Given the description of an element on the screen output the (x, y) to click on. 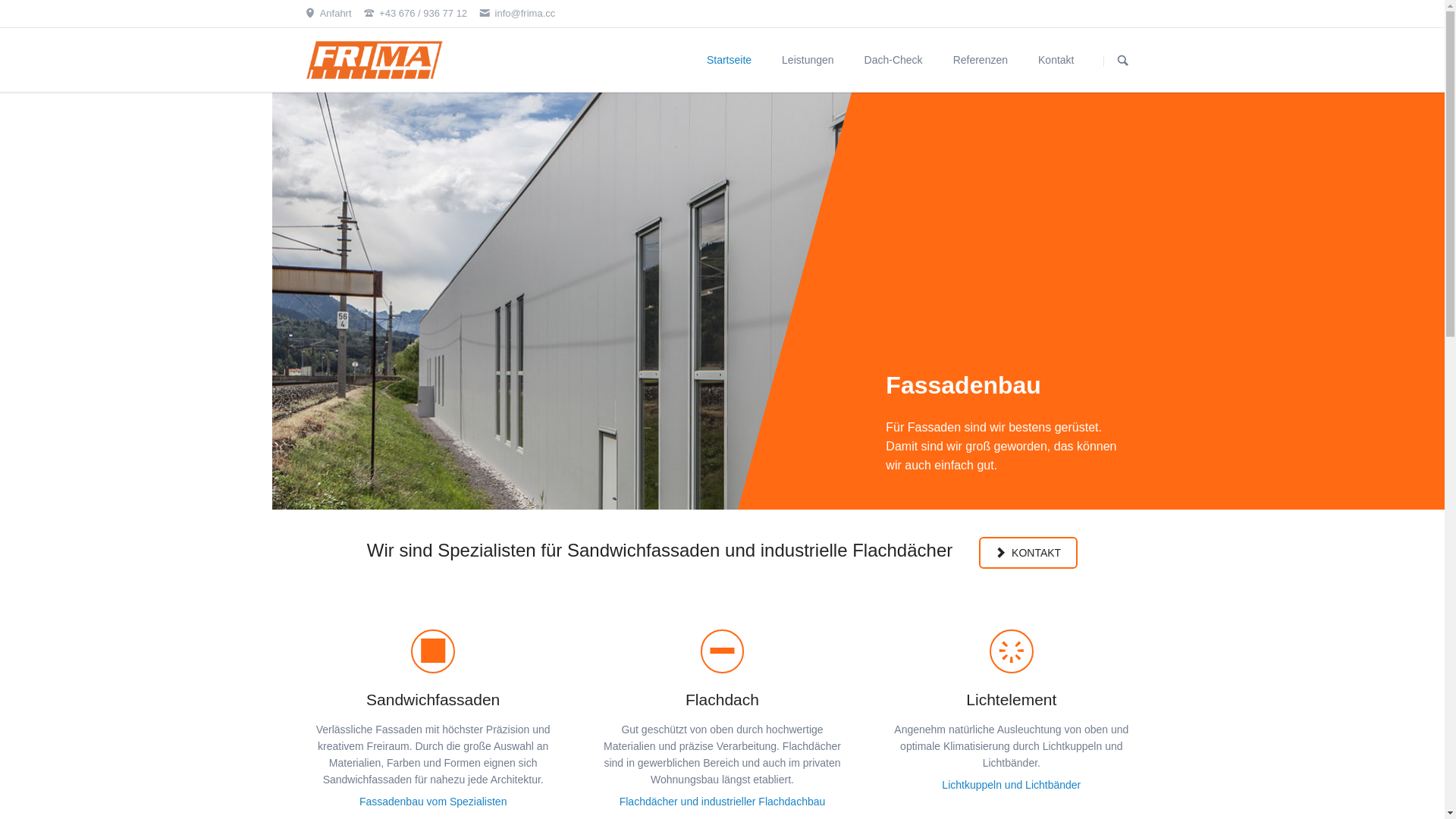
Dach-Check Element type: text (893, 59)
+43 676 / 936 77 12 Element type: text (415, 13)
Referenzen Element type: text (980, 59)
Leistungen Element type: text (807, 59)
Anfahrt Element type: text (327, 13)
info@frima.cc Element type: text (517, 13)
Kontakt Element type: text (1055, 59)
SUCHEN Element type: text (1122, 60)
KONTAKT Element type: text (1028, 552)
